Given the description of an element on the screen output the (x, y) to click on. 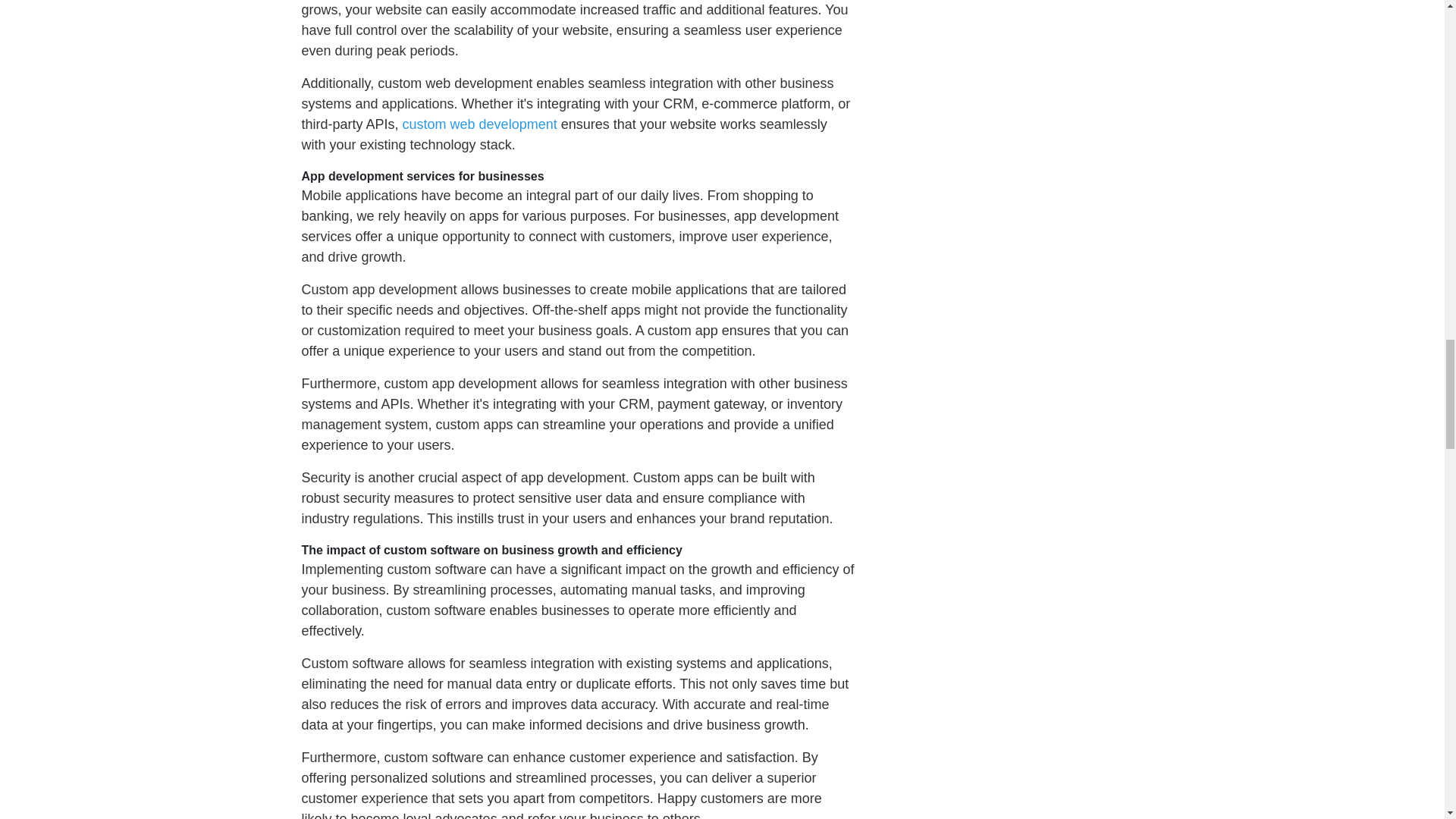
custom web development (480, 124)
